Given the description of an element on the screen output the (x, y) to click on. 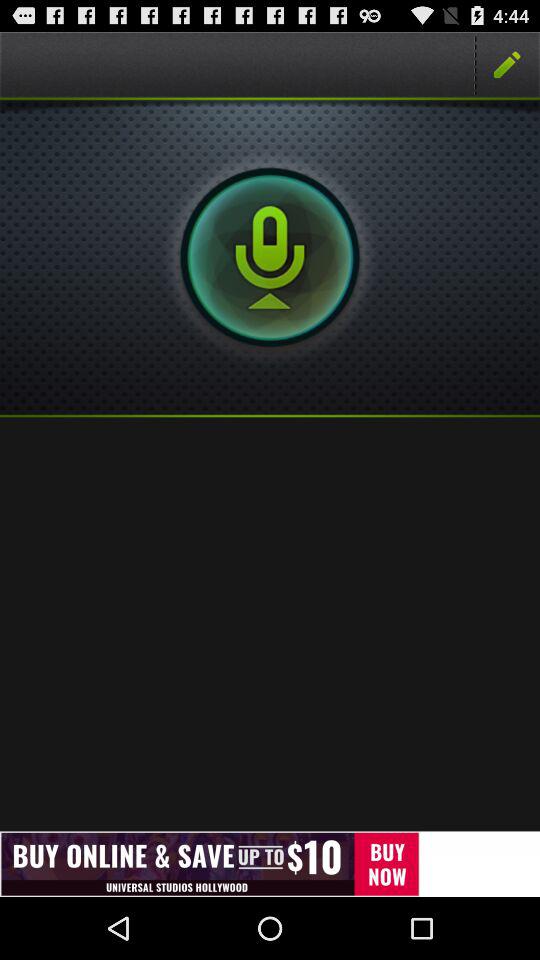
press on advertisement banner (270, 864)
